Given the description of an element on the screen output the (x, y) to click on. 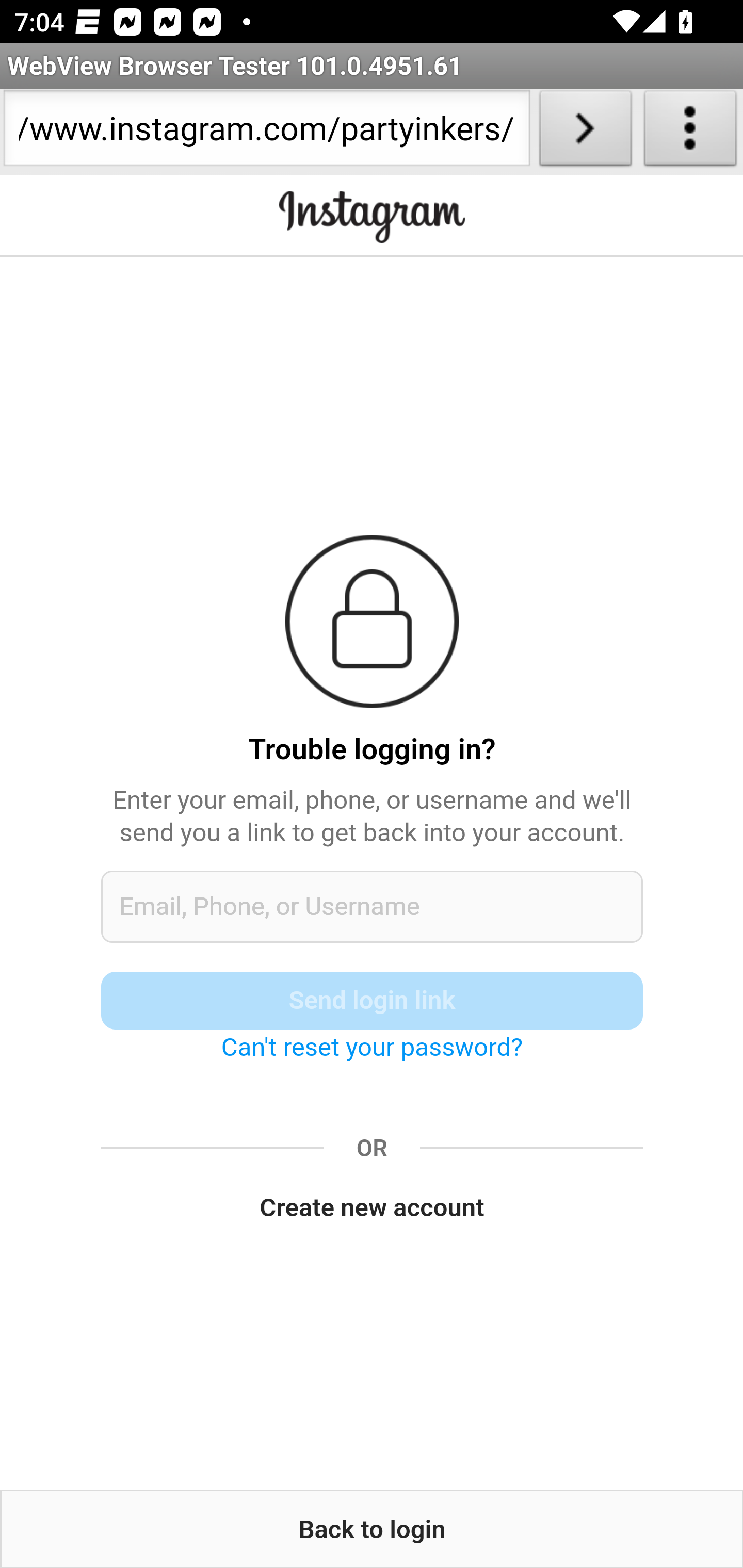
https://www.instagram.com/partyinkers/ (266, 132)
Load URL (585, 132)
About WebView (690, 132)
Send login link (372, 1000)
Can't reset your password? (371, 1046)
Create new account (372, 1208)
Back to login (371, 1529)
